Given the description of an element on the screen output the (x, y) to click on. 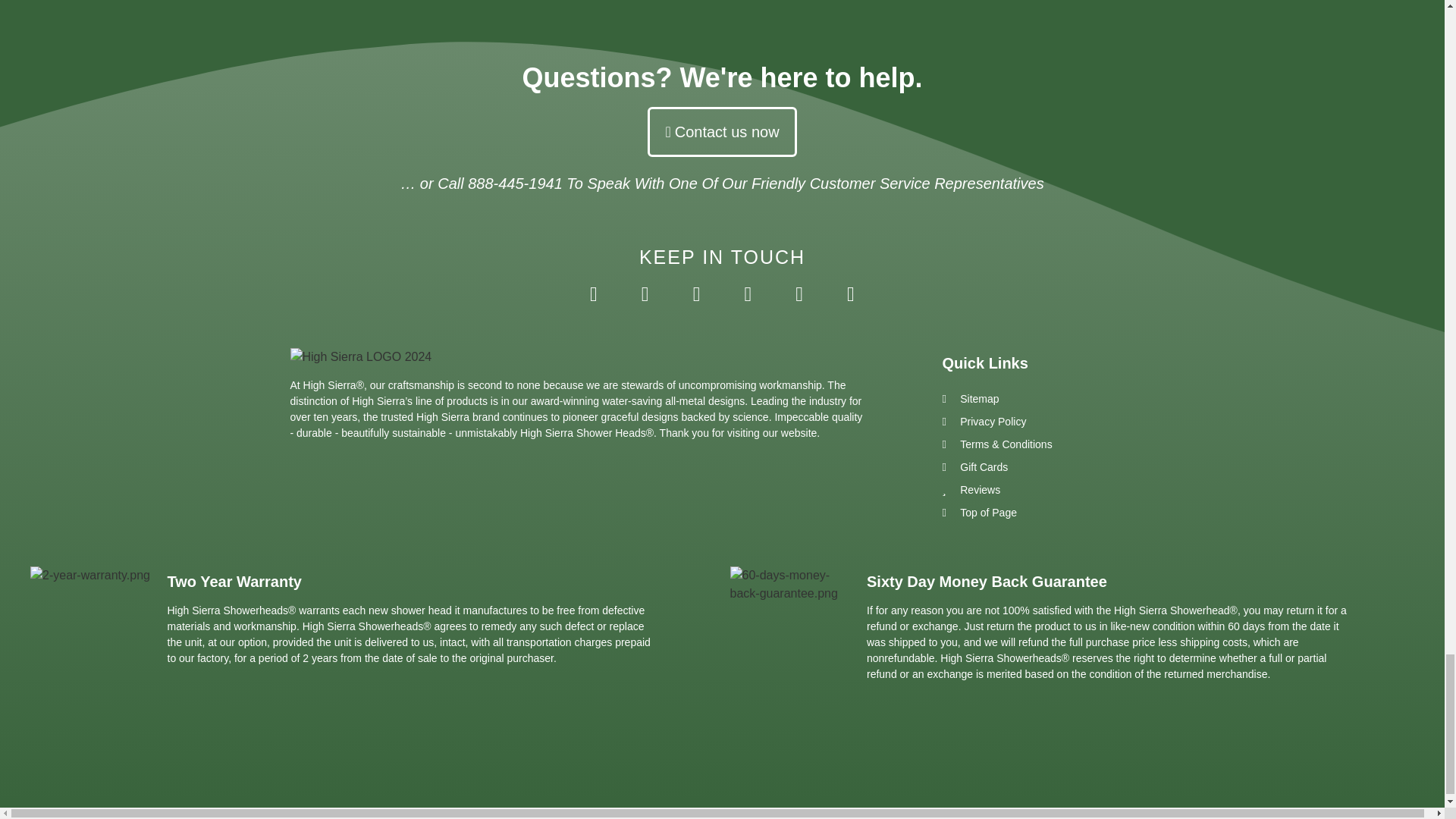
2-year-warranty.png (89, 575)
High Sierra LOGO 2024 (359, 357)
60-days-money-back-guarantee.png (790, 584)
